Given the description of an element on the screen output the (x, y) to click on. 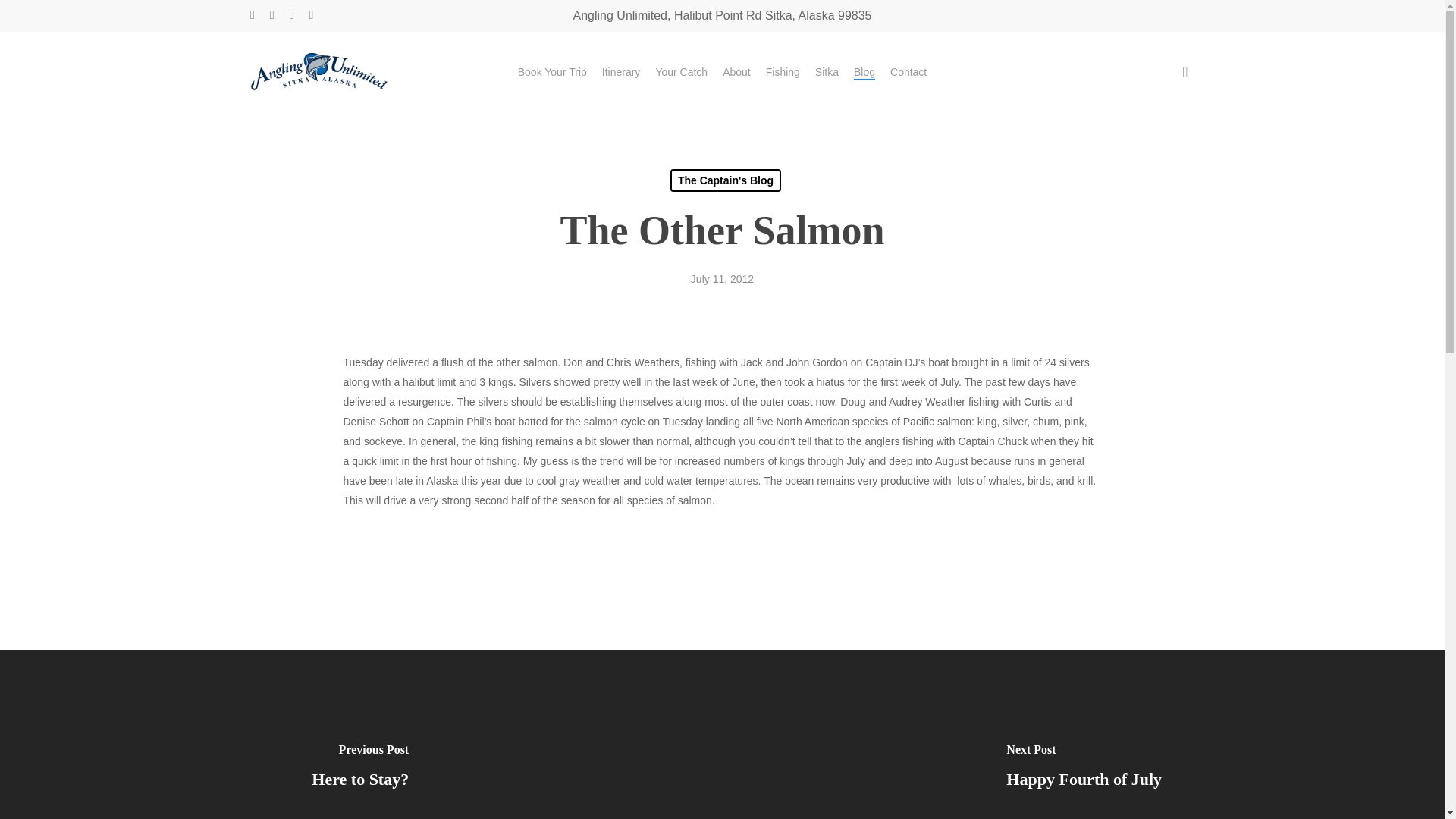
Blog (864, 71)
About (736, 71)
Fishing (782, 71)
Book Your Trip (552, 71)
Itinerary (621, 71)
Sitka (826, 71)
Contact (907, 71)
Angling Unlimited, Halibut Point Rd Sitka, Alaska 99835 (722, 15)
Your Catch (681, 71)
